Given the description of an element on the screen output the (x, y) to click on. 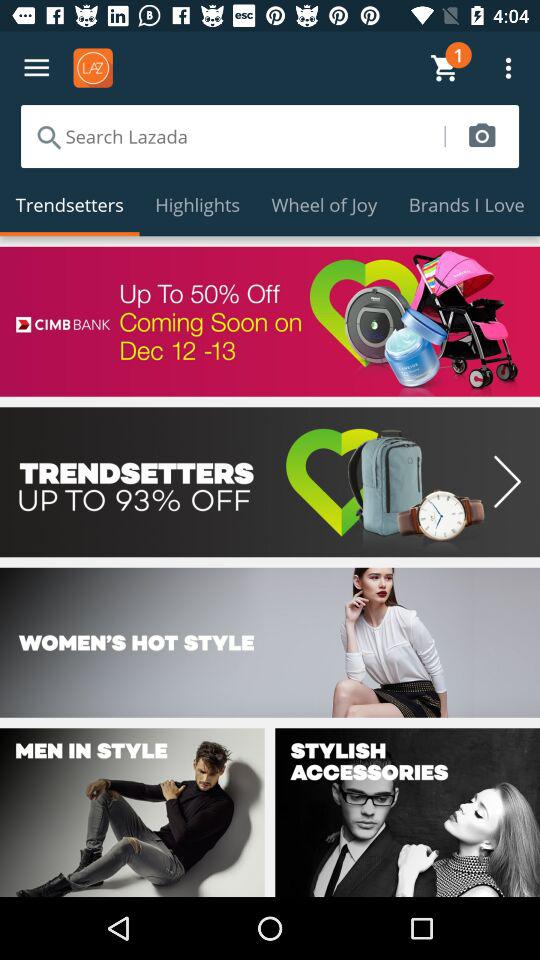
camera (482, 136)
